Given the description of an element on the screen output the (x, y) to click on. 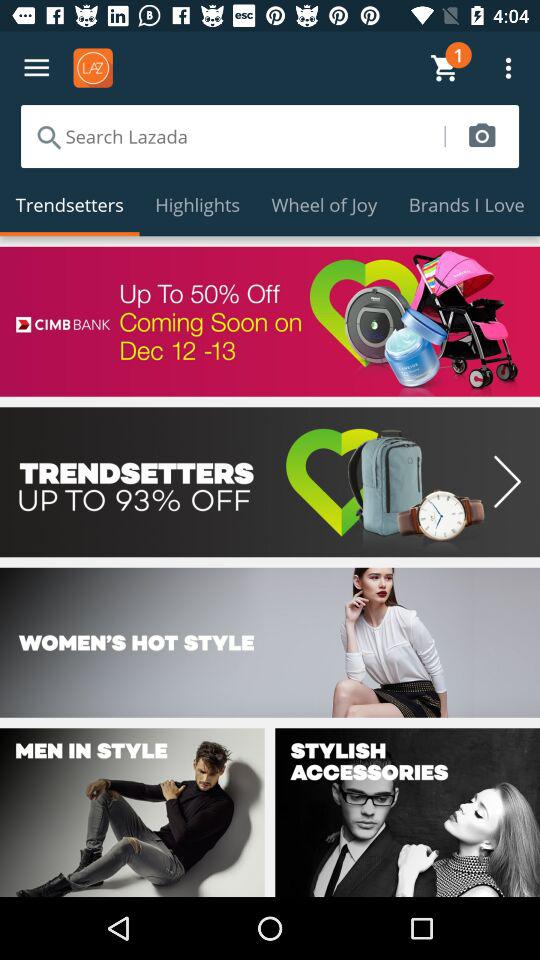
camera (482, 136)
